Given the description of an element on the screen output the (x, y) to click on. 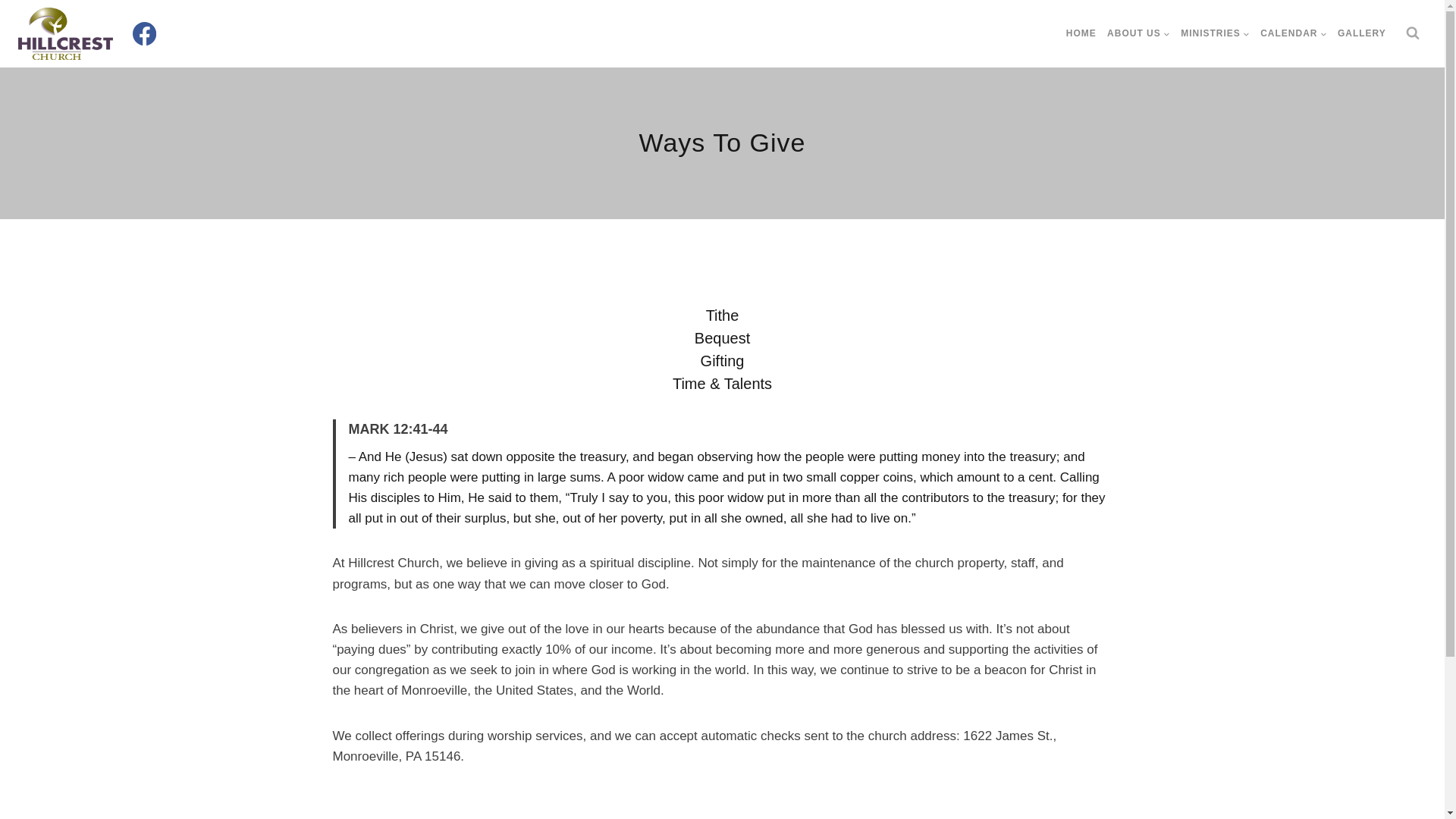
HOME (1081, 33)
MINISTRIES (1214, 33)
GALLERY (1361, 33)
ABOUT US (1138, 33)
CALENDAR (1293, 33)
